Given the description of an element on the screen output the (x, y) to click on. 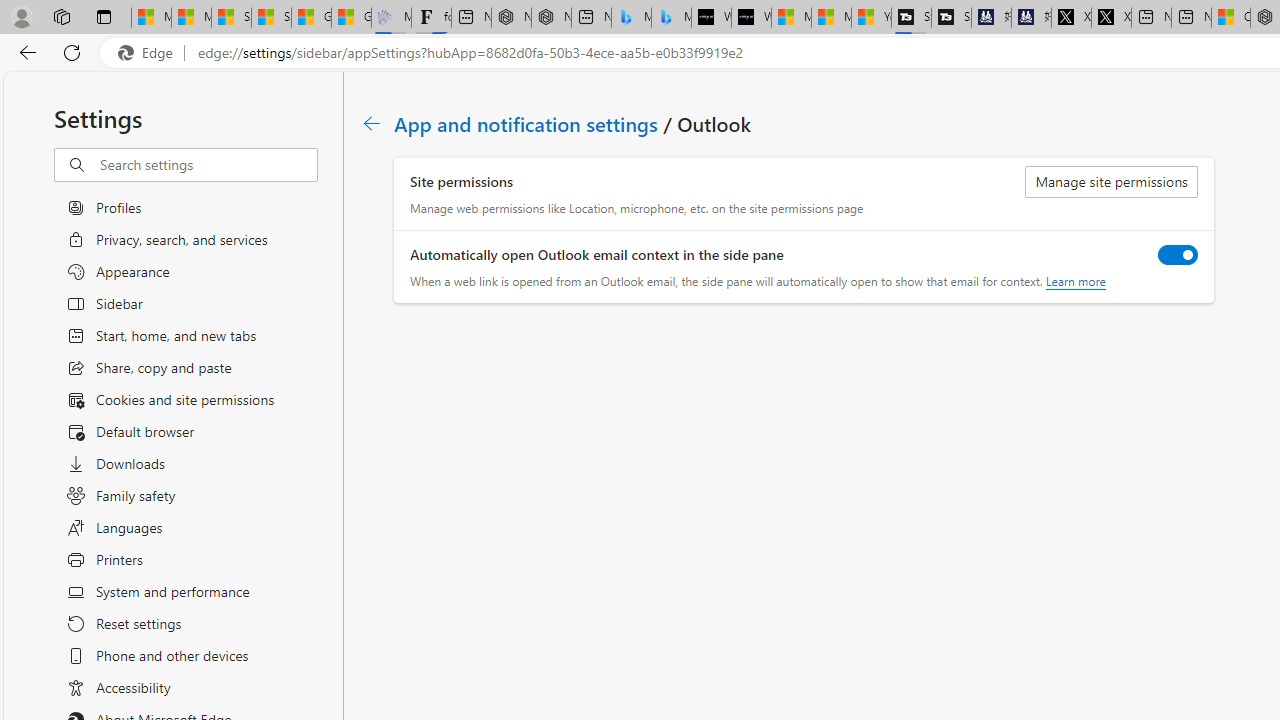
Learn more (1074, 281)
Edge (150, 53)
Manage site permissions (1111, 182)
Microsoft Bing Travel - Stays in Bangkok, Bangkok, Thailand (631, 17)
